Given the description of an element on the screen output the (x, y) to click on. 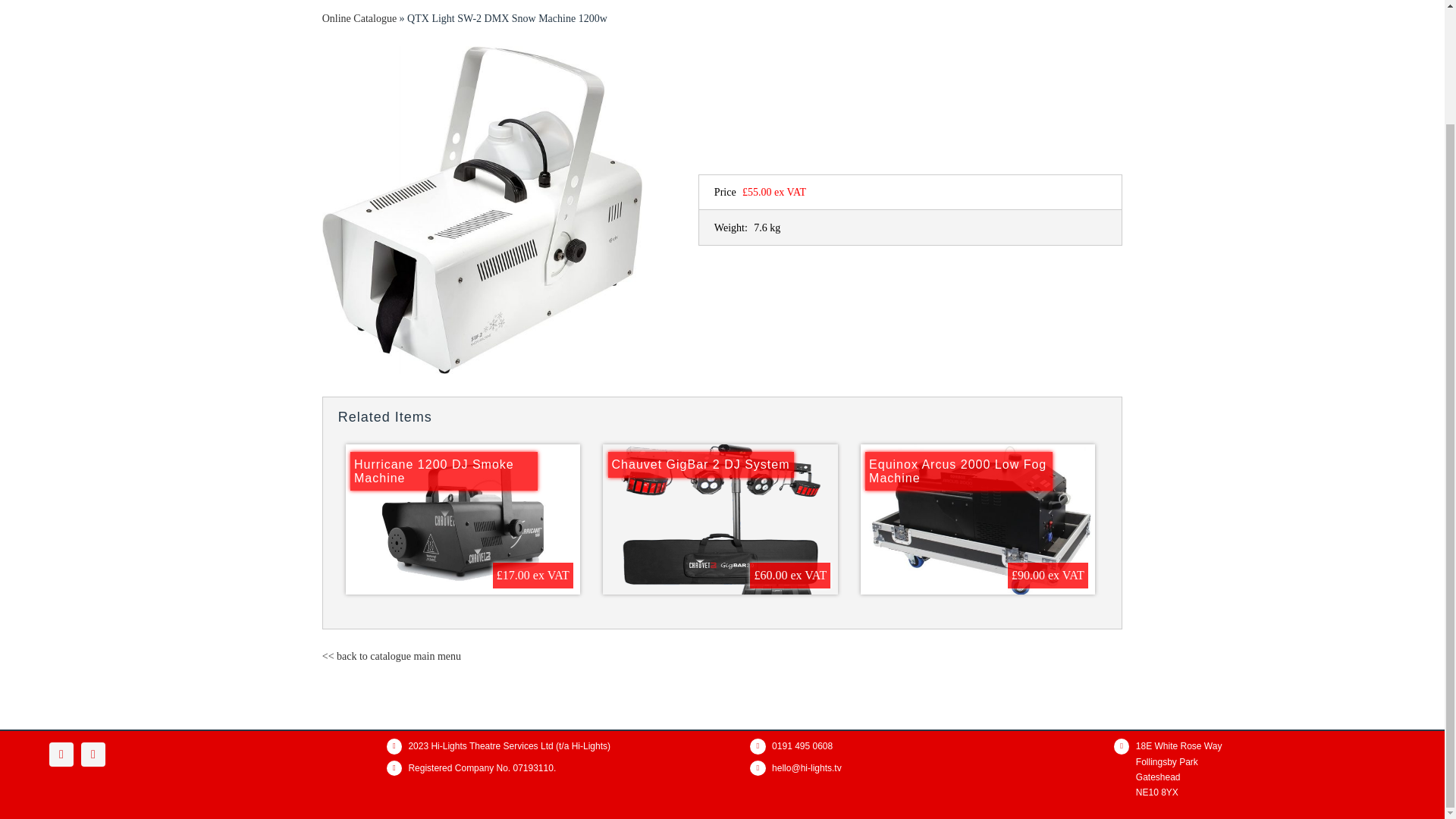
Instagram (92, 754)
Facebook (61, 754)
Online Catalogue (358, 18)
